Given the description of an element on the screen output the (x, y) to click on. 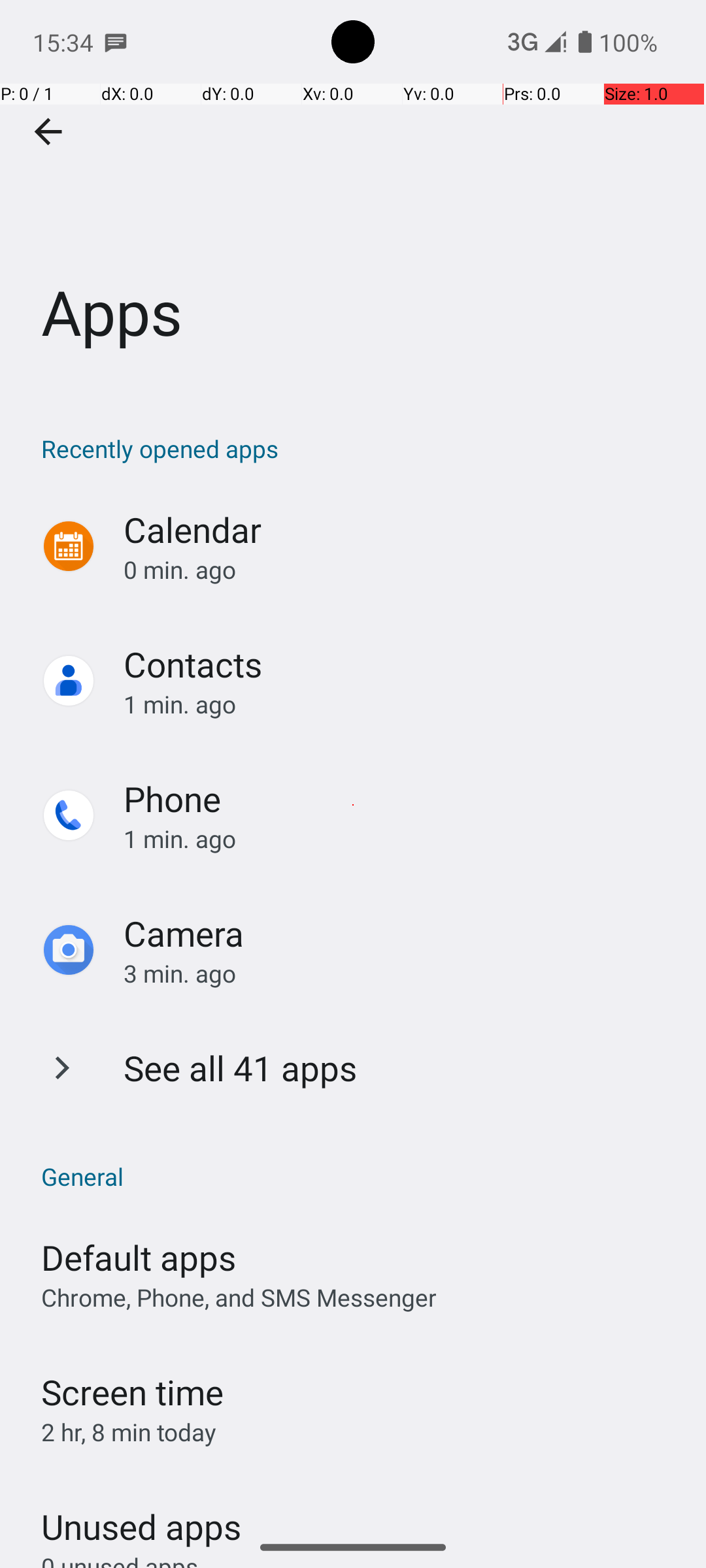
Recently opened apps Element type: android.widget.TextView (359, 448)
0 min. ago Element type: android.widget.TextView (400, 569)
1 min. ago Element type: android.widget.TextView (400, 703)
Camera Element type: android.widget.TextView (183, 933)
3 min. ago Element type: android.widget.TextView (400, 972)
See all 41 apps Element type: android.widget.TextView (239, 1067)
Default apps Element type: android.widget.TextView (138, 1257)
Chrome, Phone, and SMS Messenger Element type: android.widget.TextView (238, 1296)
2 hr, 8 min today Element type: android.widget.TextView (129, 1431)
Unused apps Element type: android.widget.TextView (141, 1514)
